Given the description of an element on the screen output the (x, y) to click on. 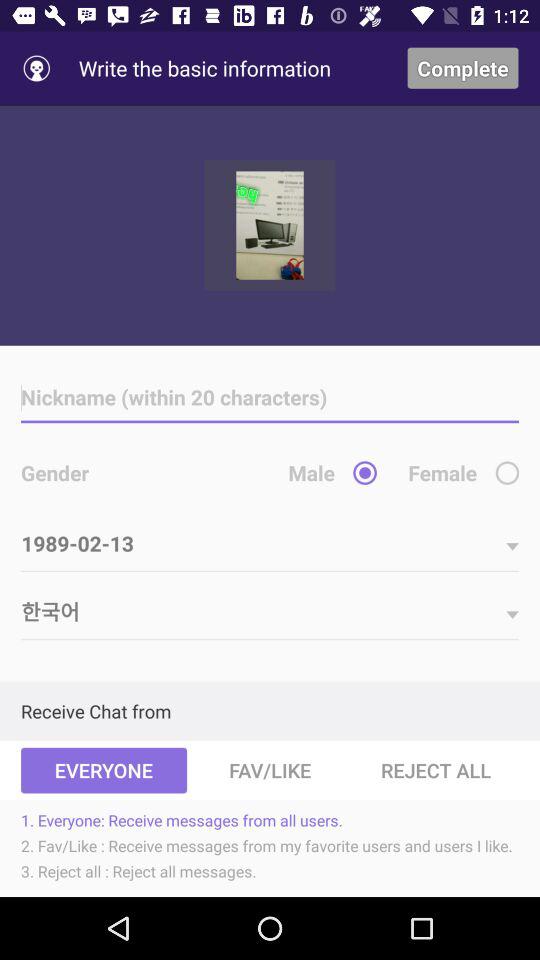
show the picture (269, 225)
